Given the description of an element on the screen output the (x, y) to click on. 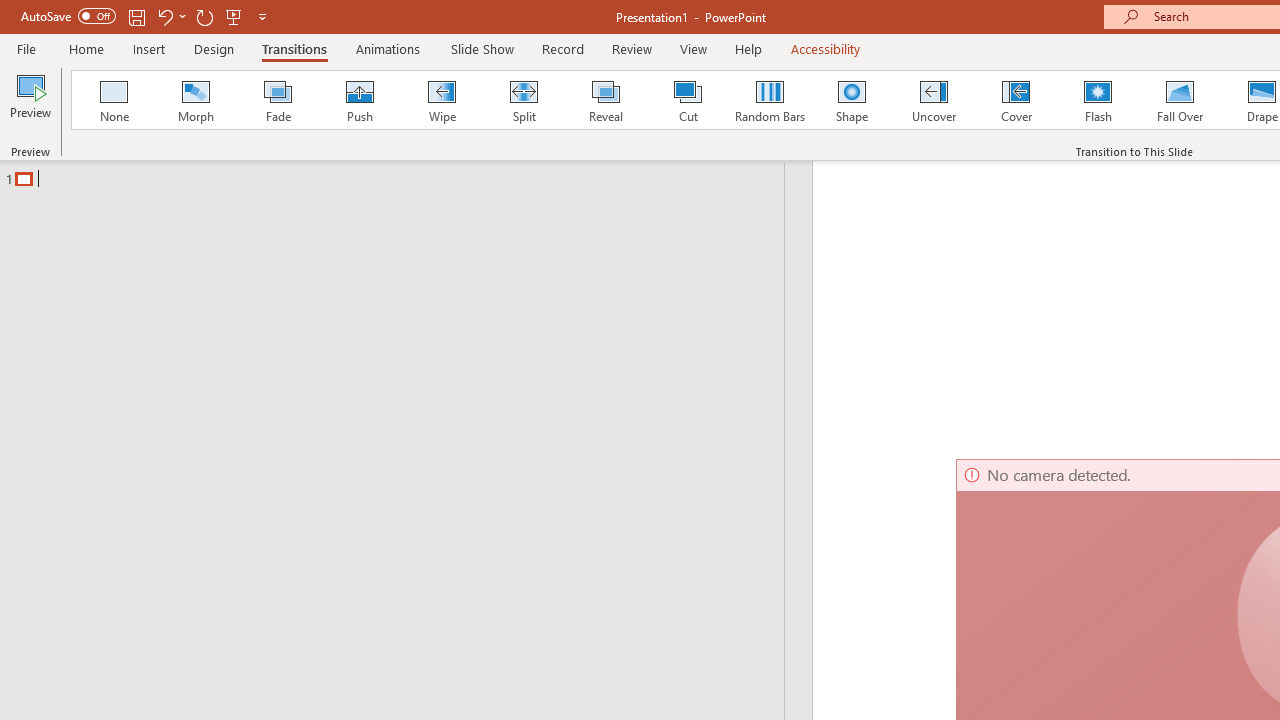
Morph (195, 100)
Reveal (605, 100)
Uncover (934, 100)
